Given the description of an element on the screen output the (x, y) to click on. 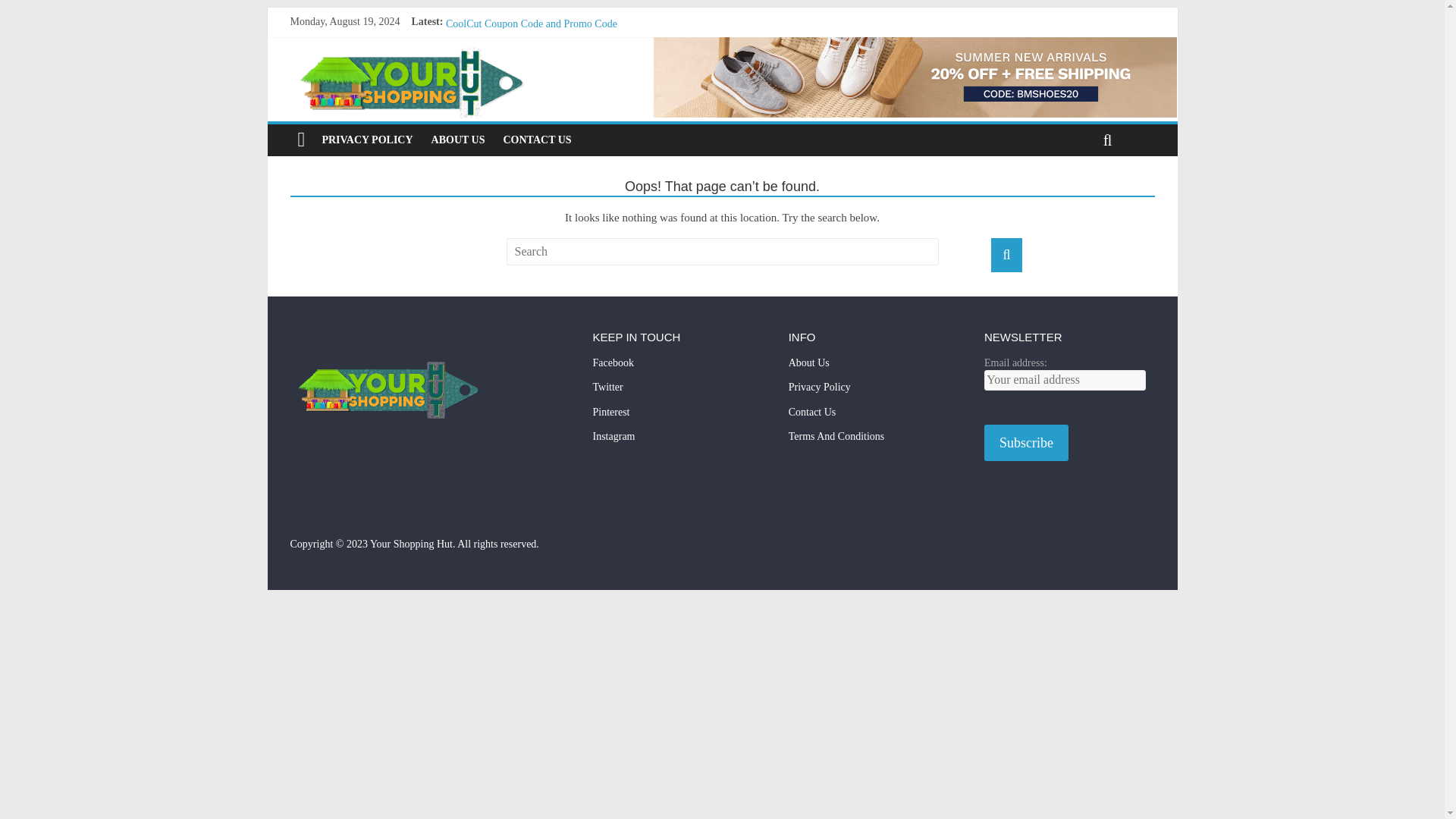
Instagram (677, 441)
Rakaposhi Organics Coupon Code and Promo Code (555, 40)
Subscribe (1026, 443)
Comfelie Coupon Code and Promo Code (533, 74)
Facebook (677, 367)
PRIVACY POLICY (367, 140)
CoolCut Coupon Code and Promo Code (531, 23)
Pinterest (677, 416)
CoolCut Coupon Code and Promo Code (531, 23)
Twitter (677, 392)
